Given the description of an element on the screen output the (x, y) to click on. 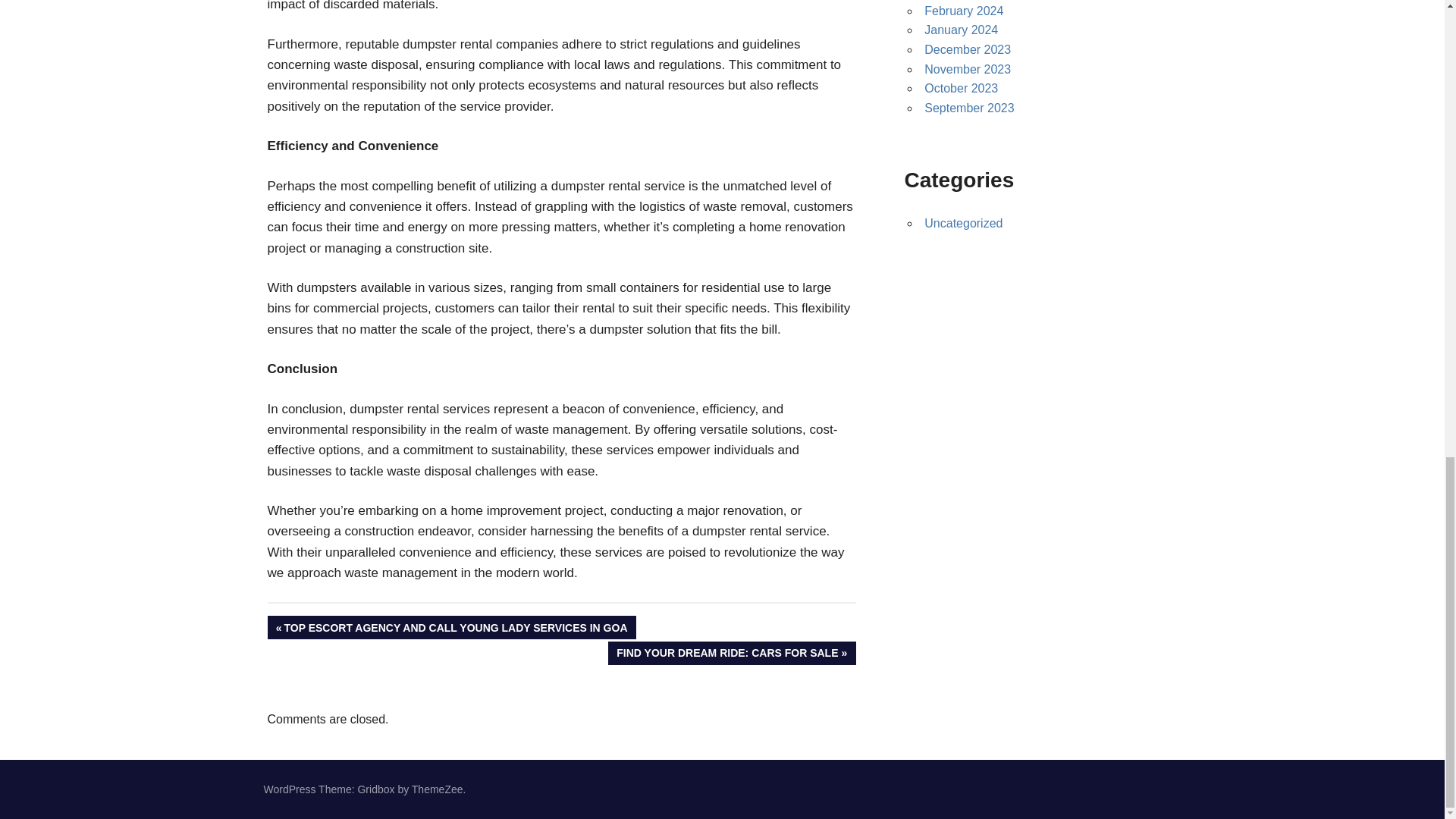
December 2023 (967, 49)
October 2023 (960, 88)
January 2024 (732, 653)
November 2023 (960, 29)
February 2024 (967, 69)
